Given the description of an element on the screen output the (x, y) to click on. 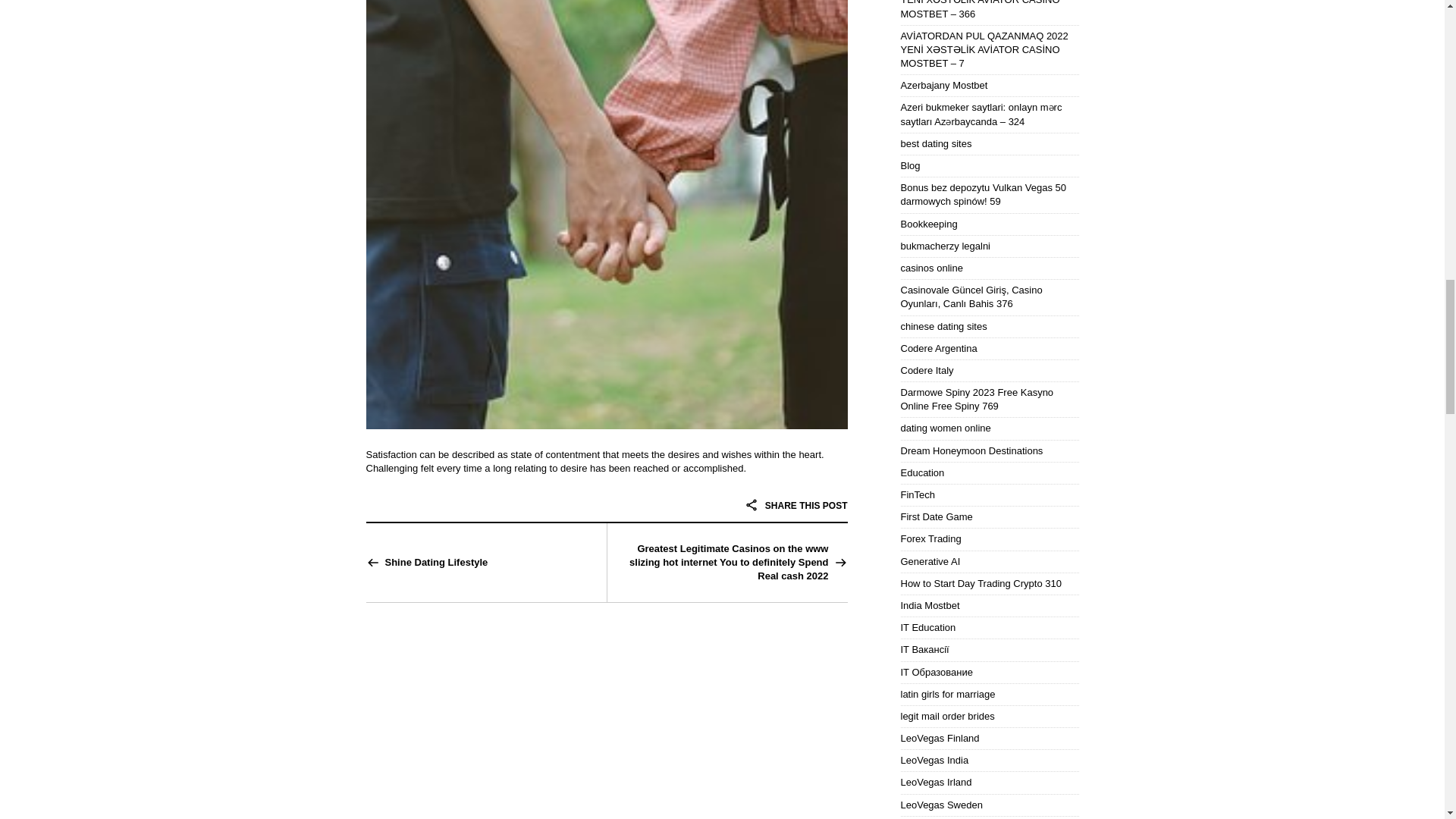
Shine Dating Lifestyle (435, 562)
SHARE THIS POST (795, 505)
